Given the description of an element on the screen output the (x, y) to click on. 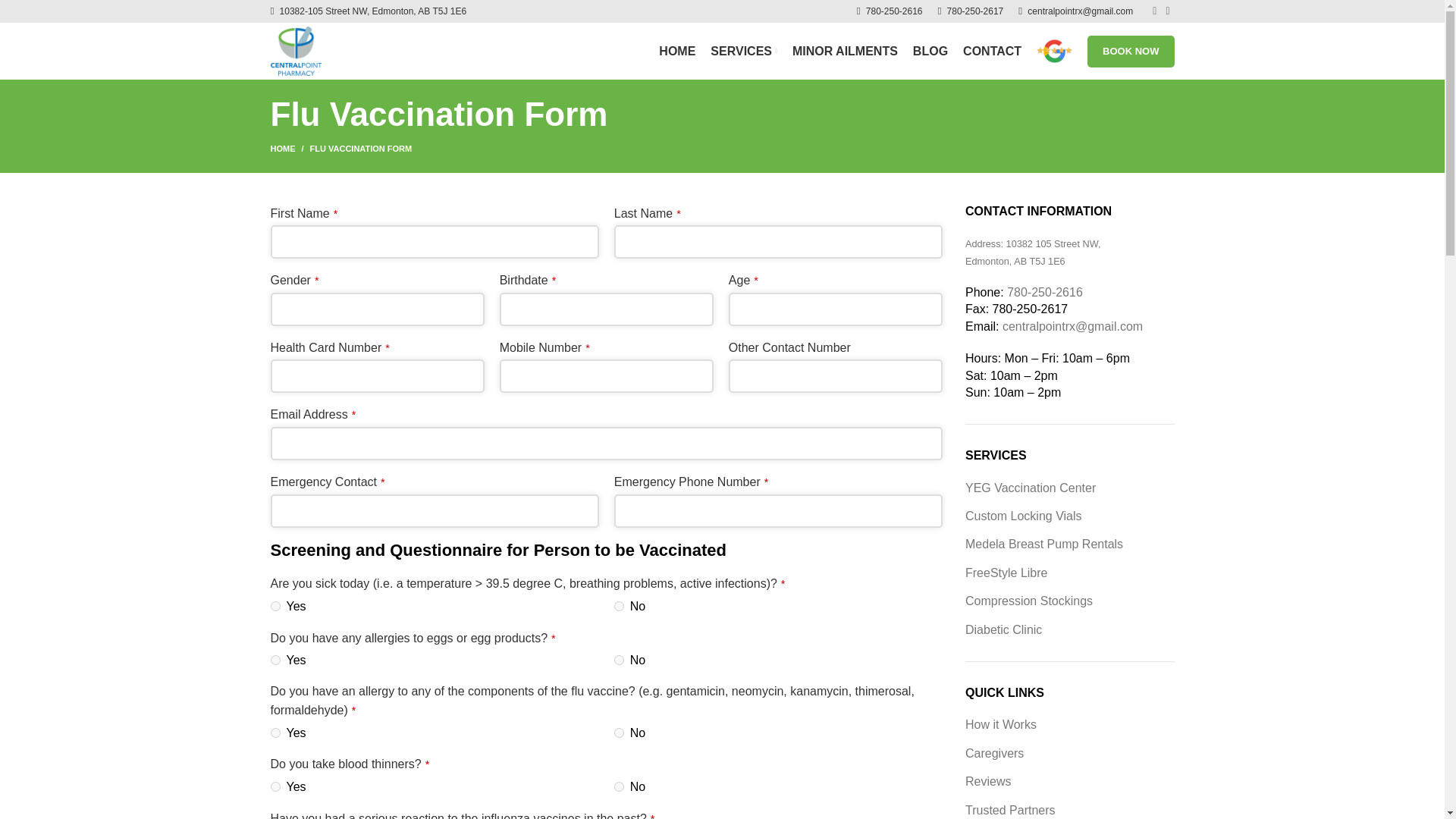
Medela Breast Pump Rentals (1043, 543)
SERVICES (743, 51)
CONTACT (992, 51)
BLOG (929, 51)
No (619, 605)
HOME (288, 148)
780-250-2616 (1045, 291)
BOOK NOW (1130, 50)
No (619, 660)
Yes (274, 732)
